Given the description of an element on the screen output the (x, y) to click on. 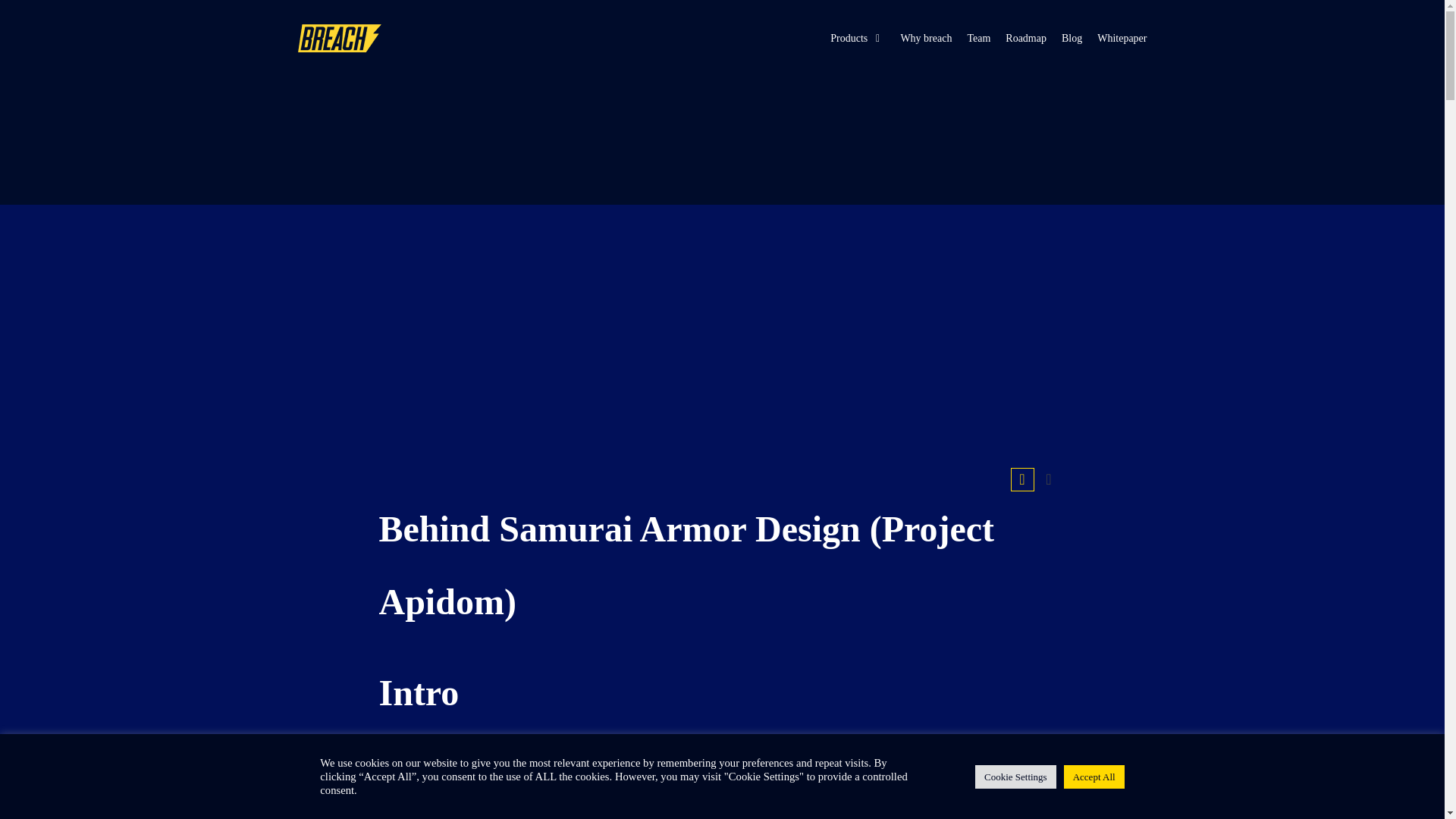
Accept All (1094, 775)
Blog (1071, 38)
Cookie Settings (1016, 775)
Team (978, 38)
Products (857, 38)
Roadmap (1026, 38)
Whitepaper (1122, 38)
Why breach (925, 38)
